Given the description of an element on the screen output the (x, y) to click on. 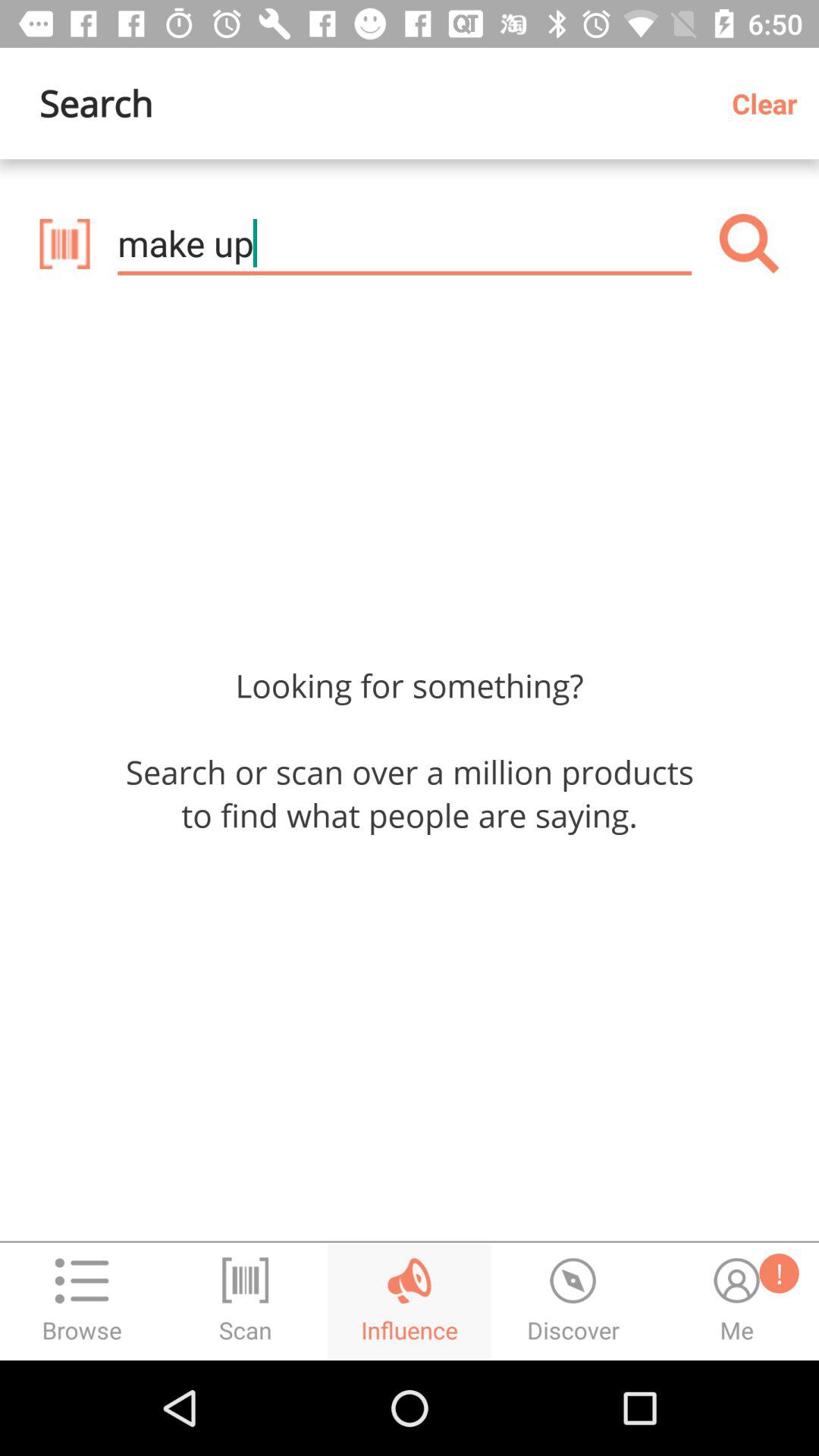
barcode scan (64, 243)
